Given the description of an element on the screen output the (x, y) to click on. 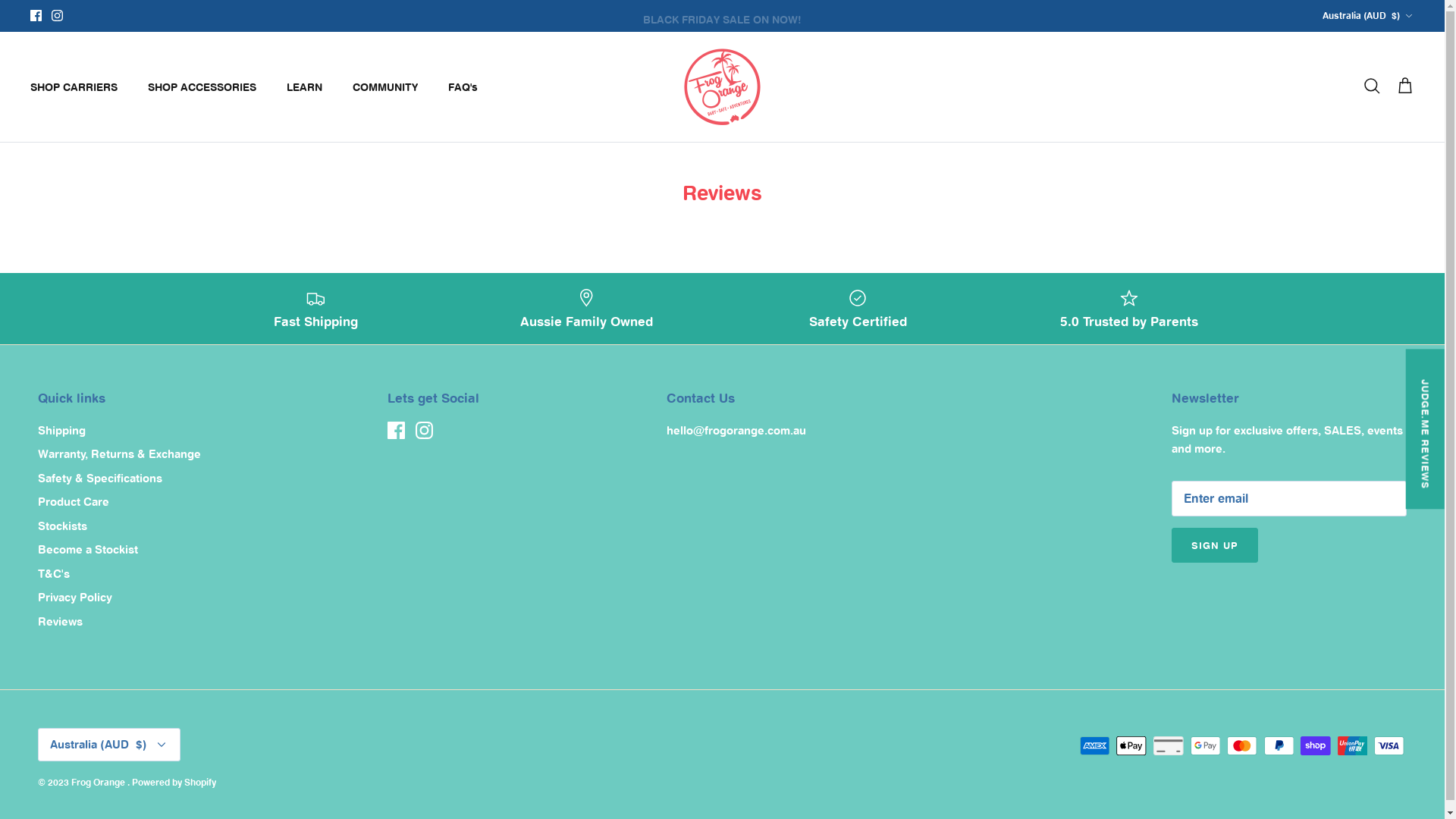
FAQ's Element type: text (462, 86)
Stockists Element type: text (62, 525)
Frog Orange Element type: text (99, 781)
Search Element type: text (1371, 86)
Shipping Element type: text (61, 430)
Become a Stockist Element type: text (87, 549)
Instagram Element type: text (424, 430)
COMMUNITY Element type: text (384, 86)
LEARN Element type: text (304, 86)
Frog Orange  Element type: hover (722, 86)
Instagram Element type: text (56, 15)
Product Care Element type: text (73, 501)
T&C's Element type: text (53, 573)
Cart Element type: text (1405, 86)
Australia (AUD $)
Down Element type: text (1368, 15)
Reviews Element type: text (59, 621)
Powered by Shopify Element type: text (173, 781)
Warranty, Returns & Exchange Element type: text (118, 453)
Facebook Element type: text (35, 15)
SHOP ACCESSORIES Element type: text (201, 86)
Australia (AUD $)
Down Element type: text (108, 744)
Safety & Specifications Element type: text (99, 477)
SIGN UP Element type: text (1214, 544)
Privacy Policy Element type: text (74, 596)
SHOP CARRIERS Element type: text (73, 86)
Facebook Element type: text (395, 430)
